Given the description of an element on the screen output the (x, y) to click on. 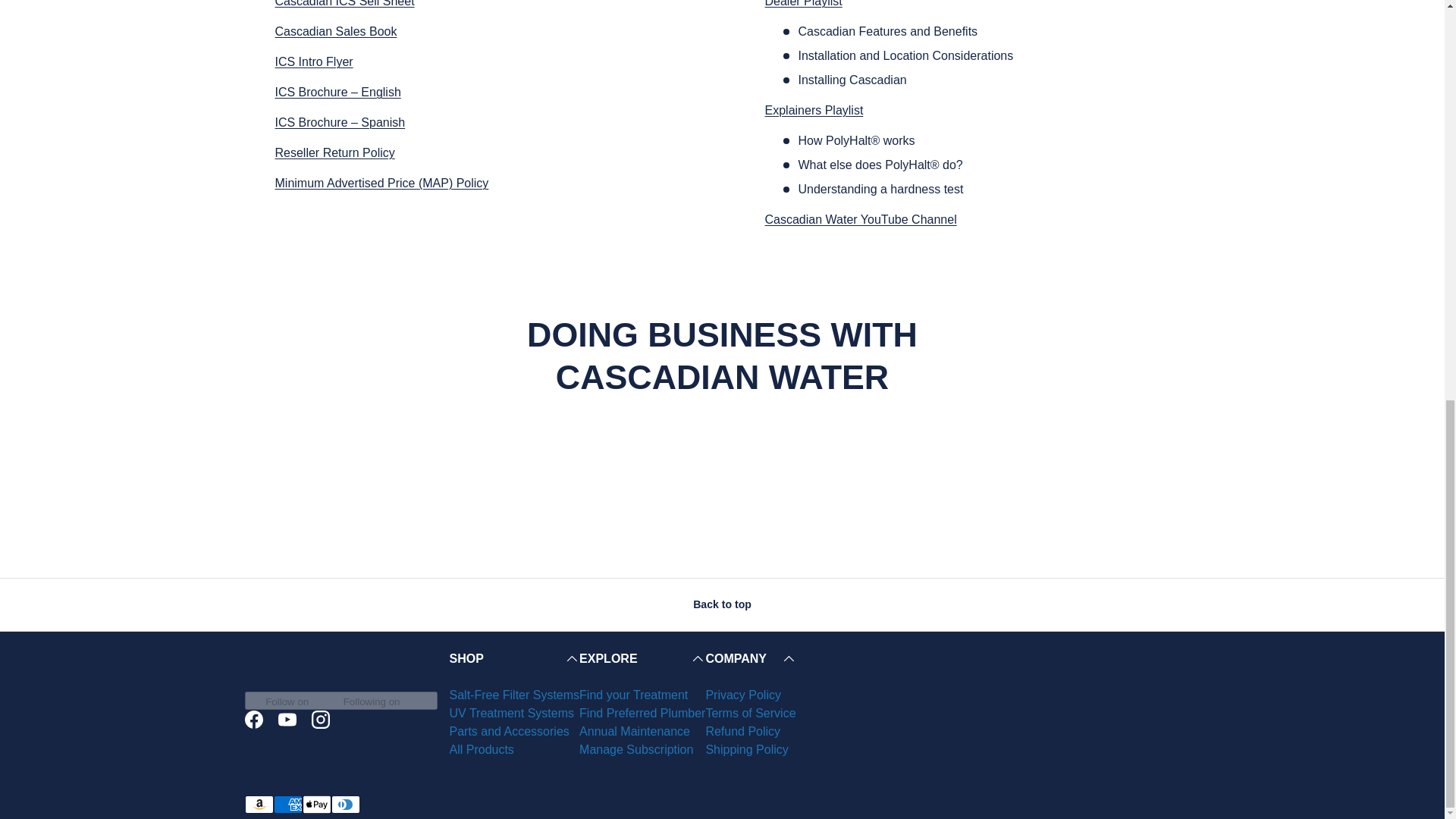
Diners Club (344, 804)
Cascadian ICS Sell Sheet (344, 3)
Explainers Playlist (813, 110)
American Express (287, 804)
Cascadian ICS Sales Book (335, 31)
Apple Pay (315, 804)
Cascadian Water on Instagram (319, 719)
Cascadian Water on YouTube (285, 719)
Cascadian Water on Facebook (252, 719)
Reseller Return Policy (334, 152)
